Given the description of an element on the screen output the (x, y) to click on. 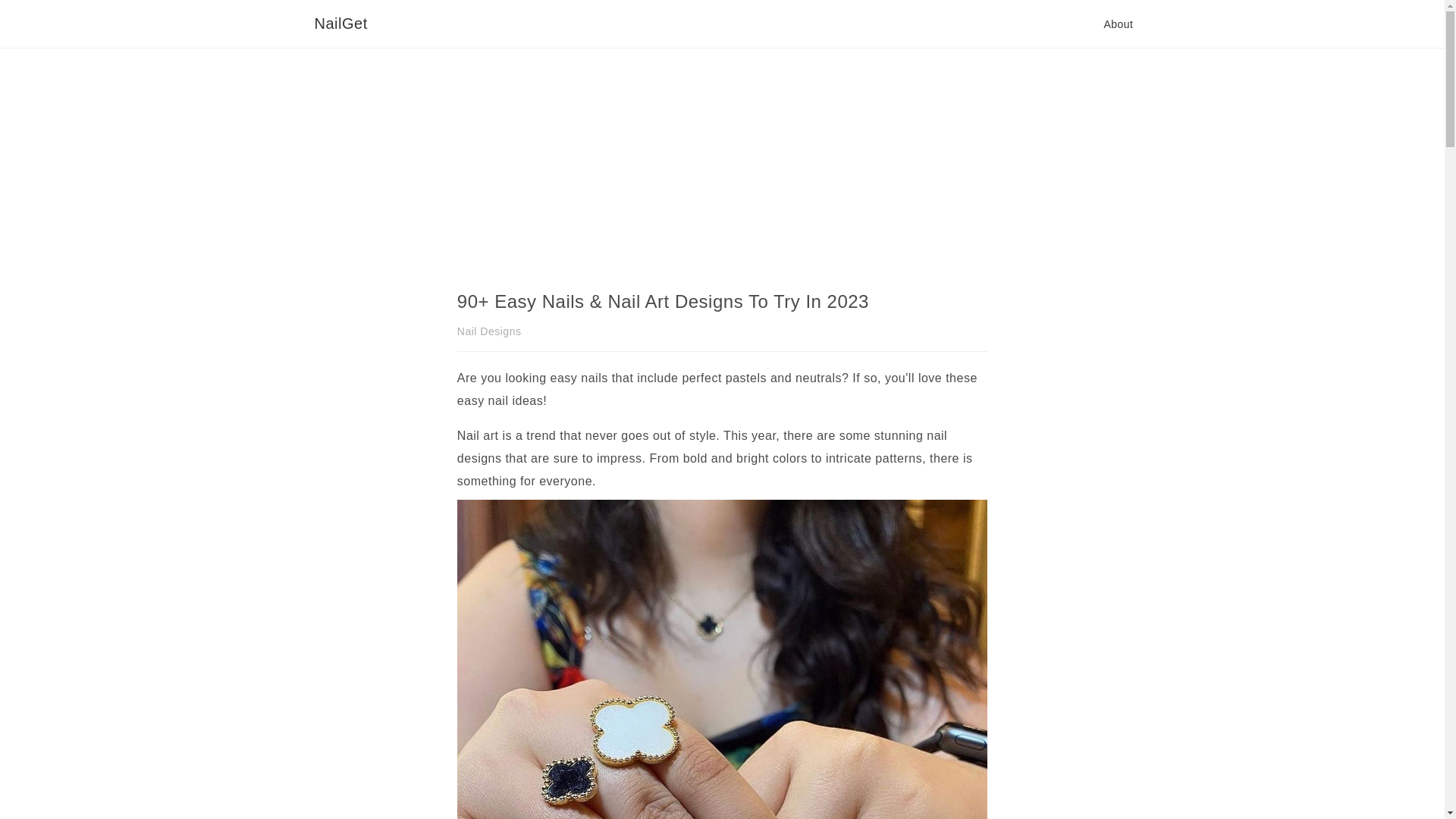
Nail Designs (489, 331)
NailGet (340, 23)
About (1117, 24)
